Given the description of an element on the screen output the (x, y) to click on. 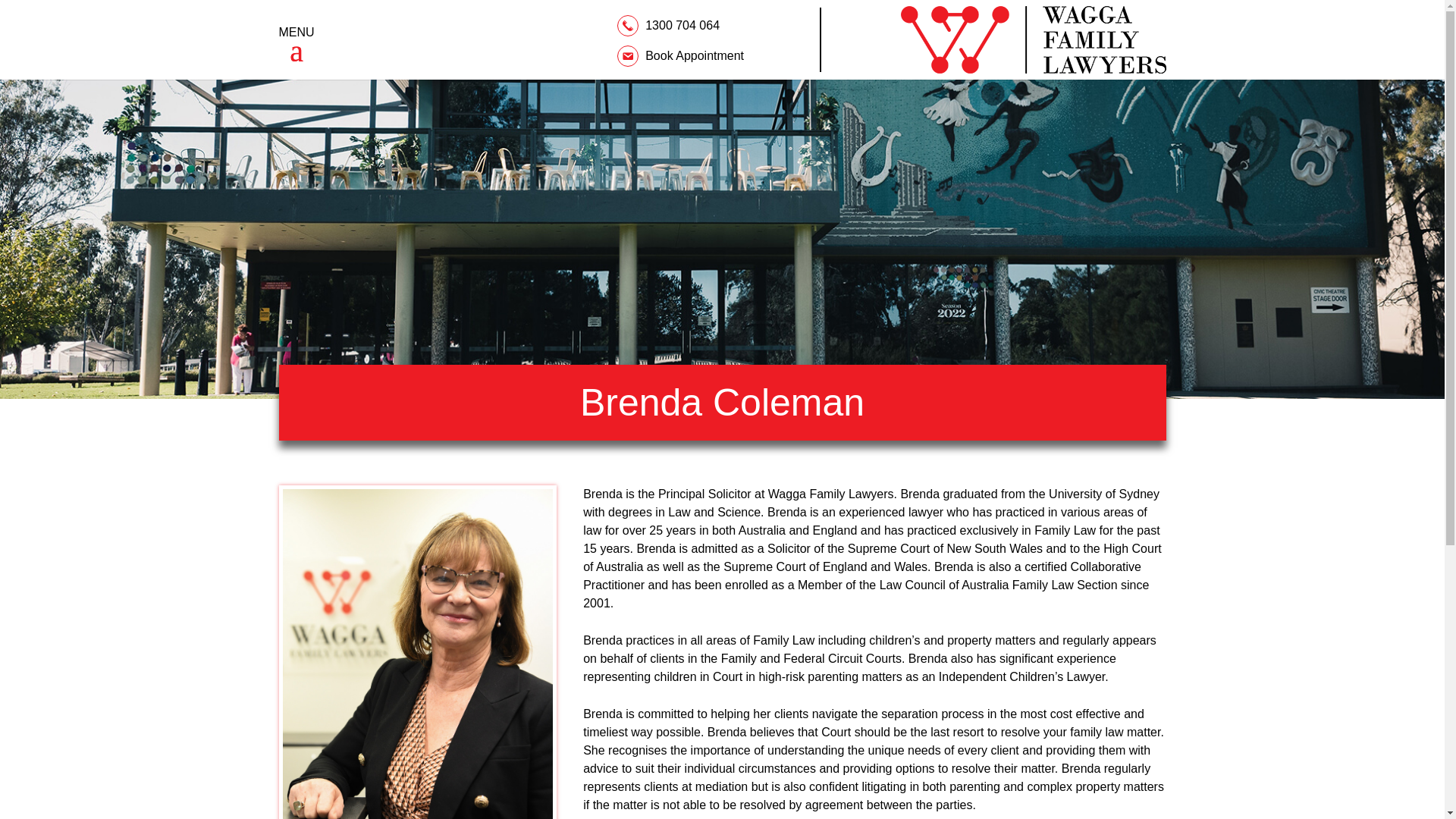
1300 704 064 (670, 24)
Book Appointment (680, 56)
